Given the description of an element on the screen output the (x, y) to click on. 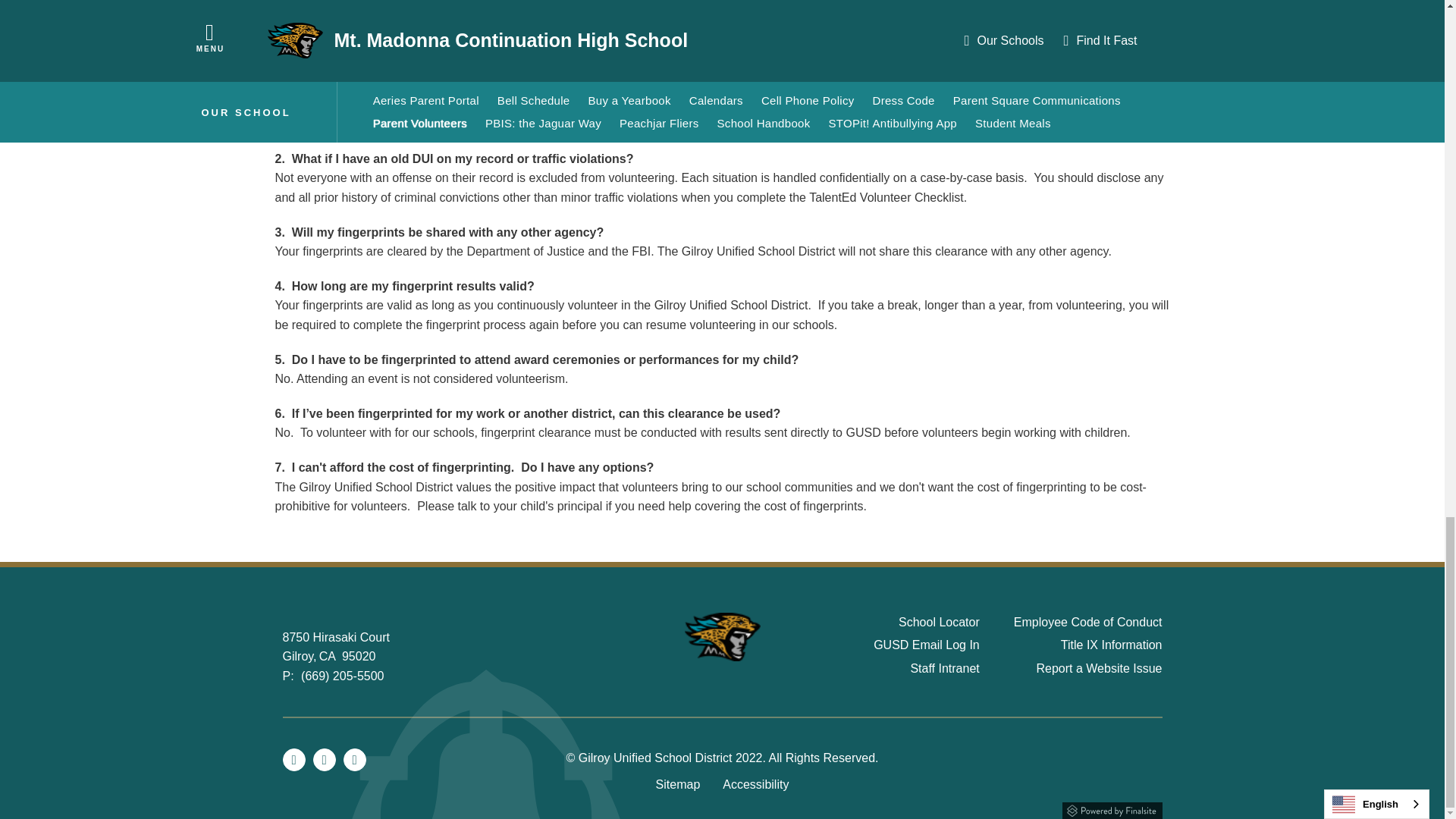
Powered by Finalsite opens in a new window (721, 808)
